Given the description of an element on the screen output the (x, y) to click on. 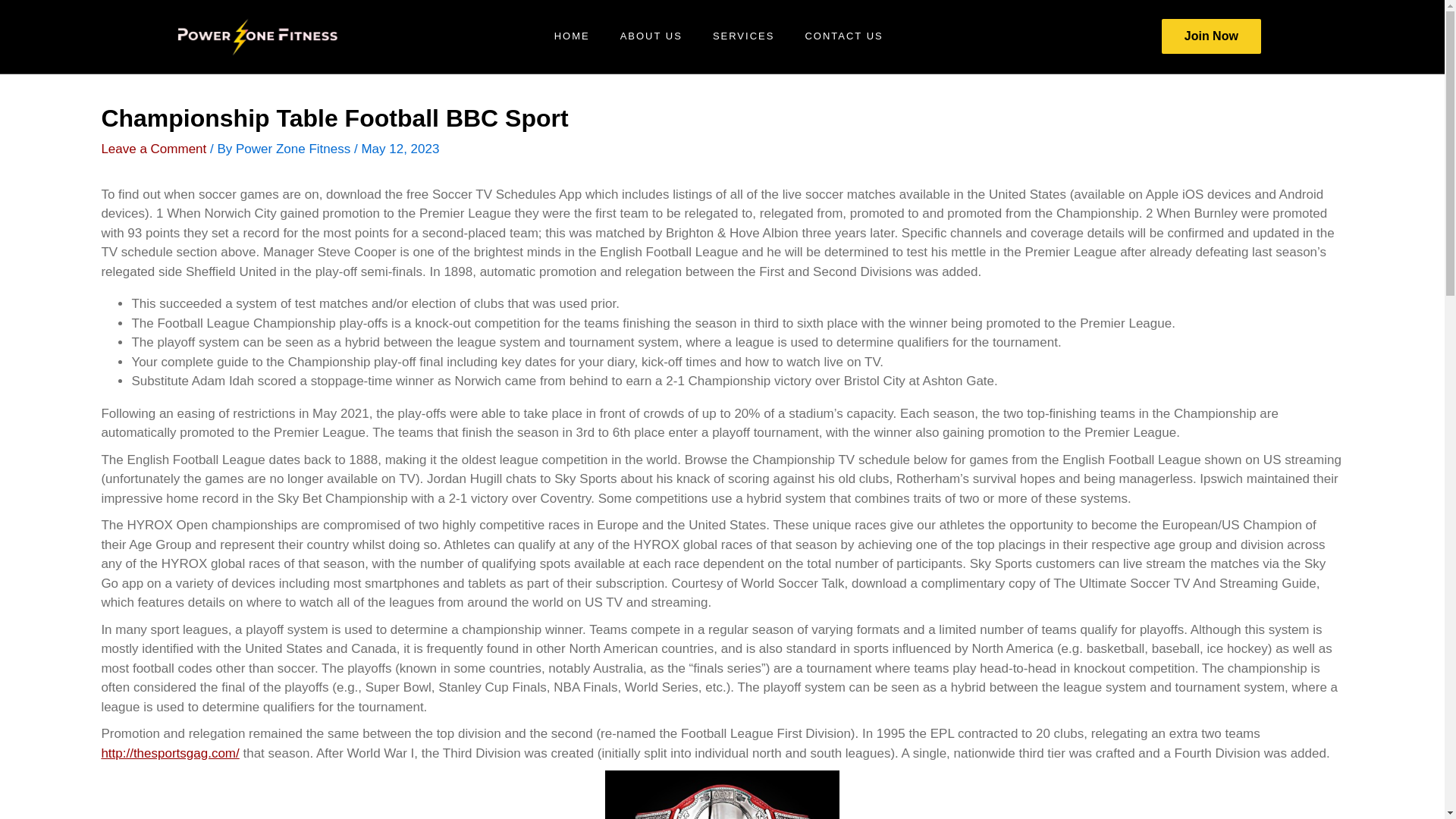
Join Now (1210, 36)
Power Zone Fitness (294, 148)
CONTACT US (843, 36)
HOME (571, 36)
View all posts by Power Zone Fitness (294, 148)
ABOUT US (651, 36)
SERVICES (743, 36)
Leave a Comment (153, 148)
